Given the description of an element on the screen output the (x, y) to click on. 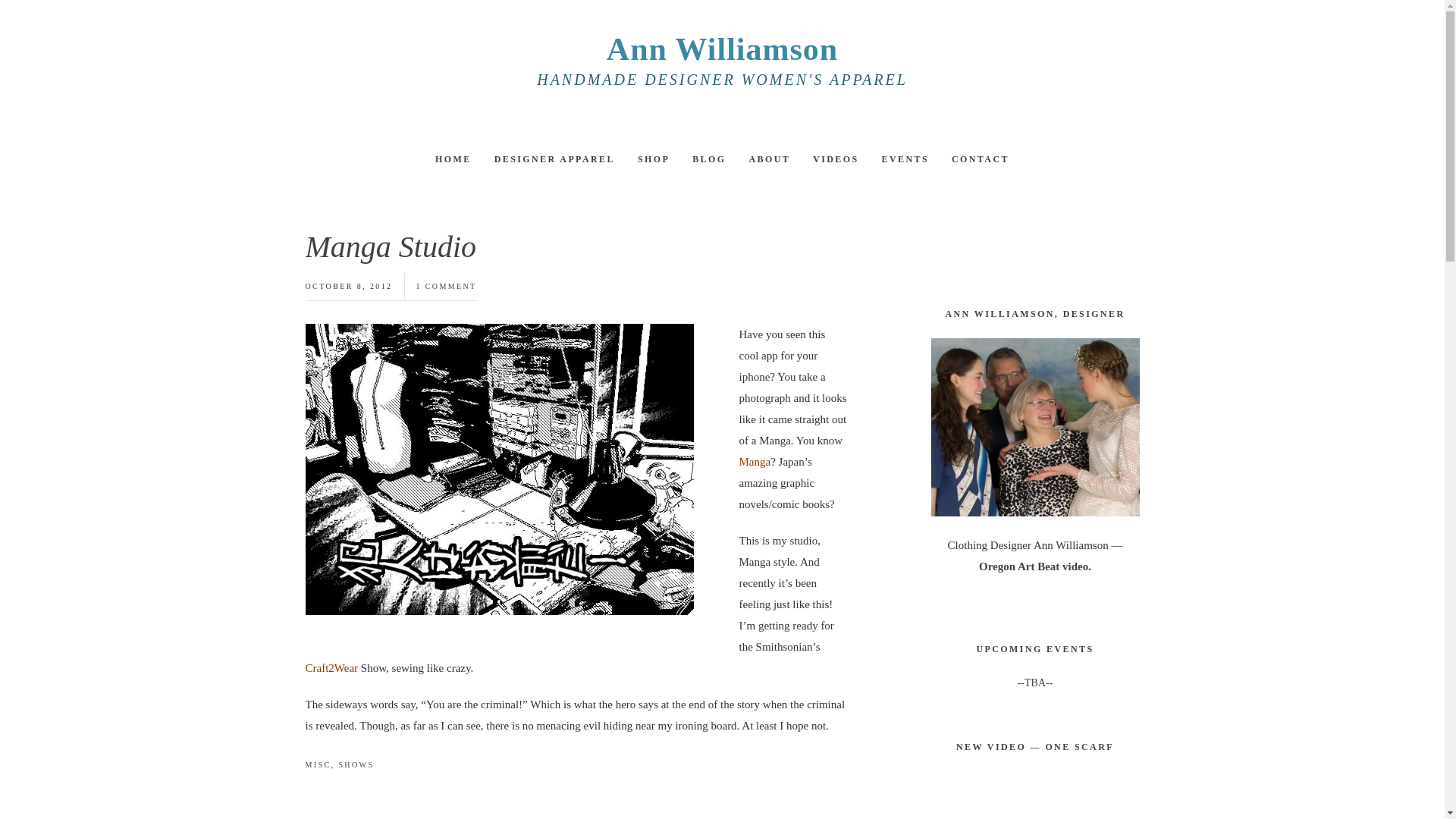
Ann Williamson (722, 48)
YouTube video player (1032, 795)
manga studio (498, 469)
DESIGNER APPAREL (554, 160)
